Given the description of an element on the screen output the (x, y) to click on. 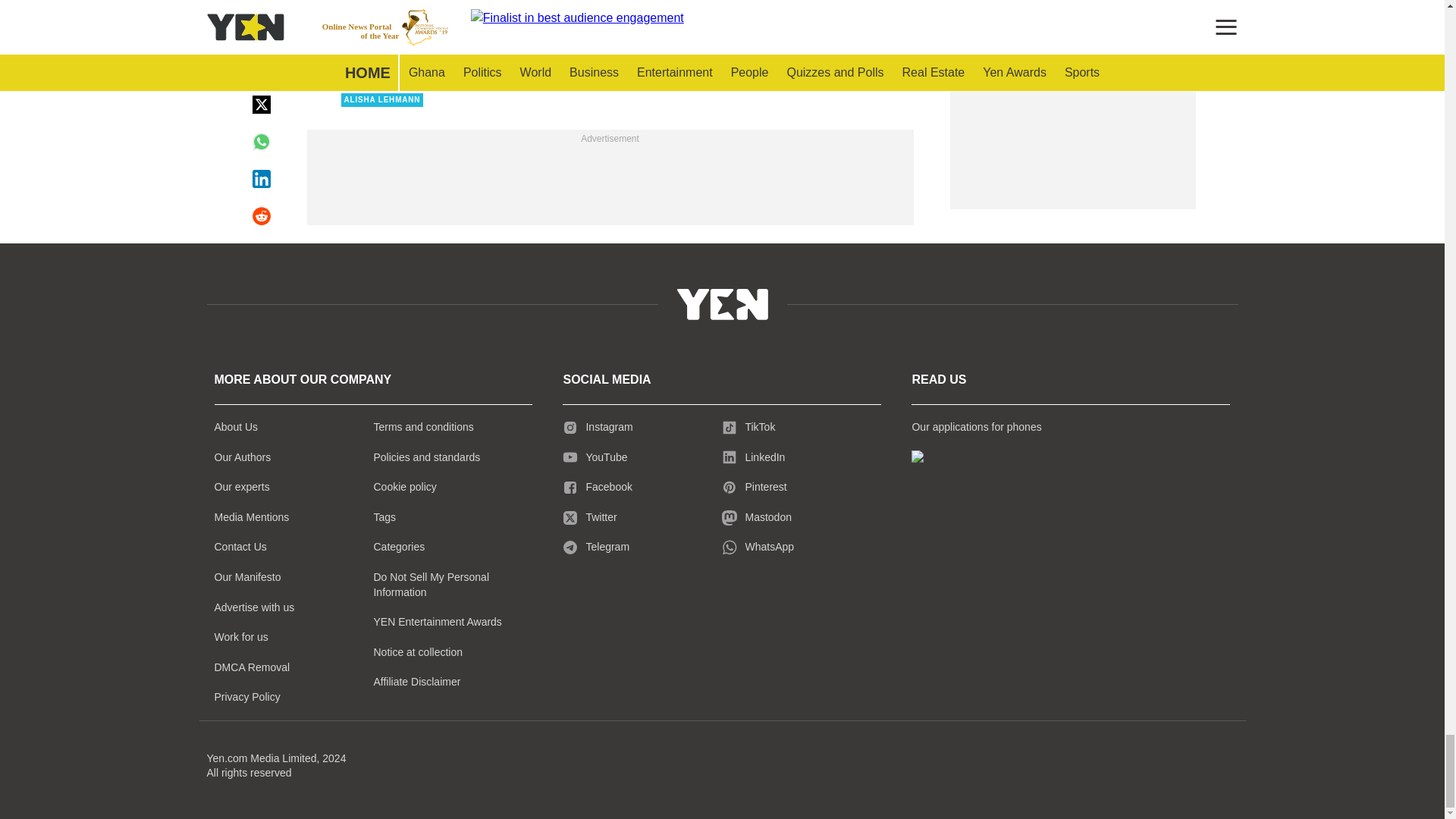
Author page (533, 30)
